Given the description of an element on the screen output the (x, y) to click on. 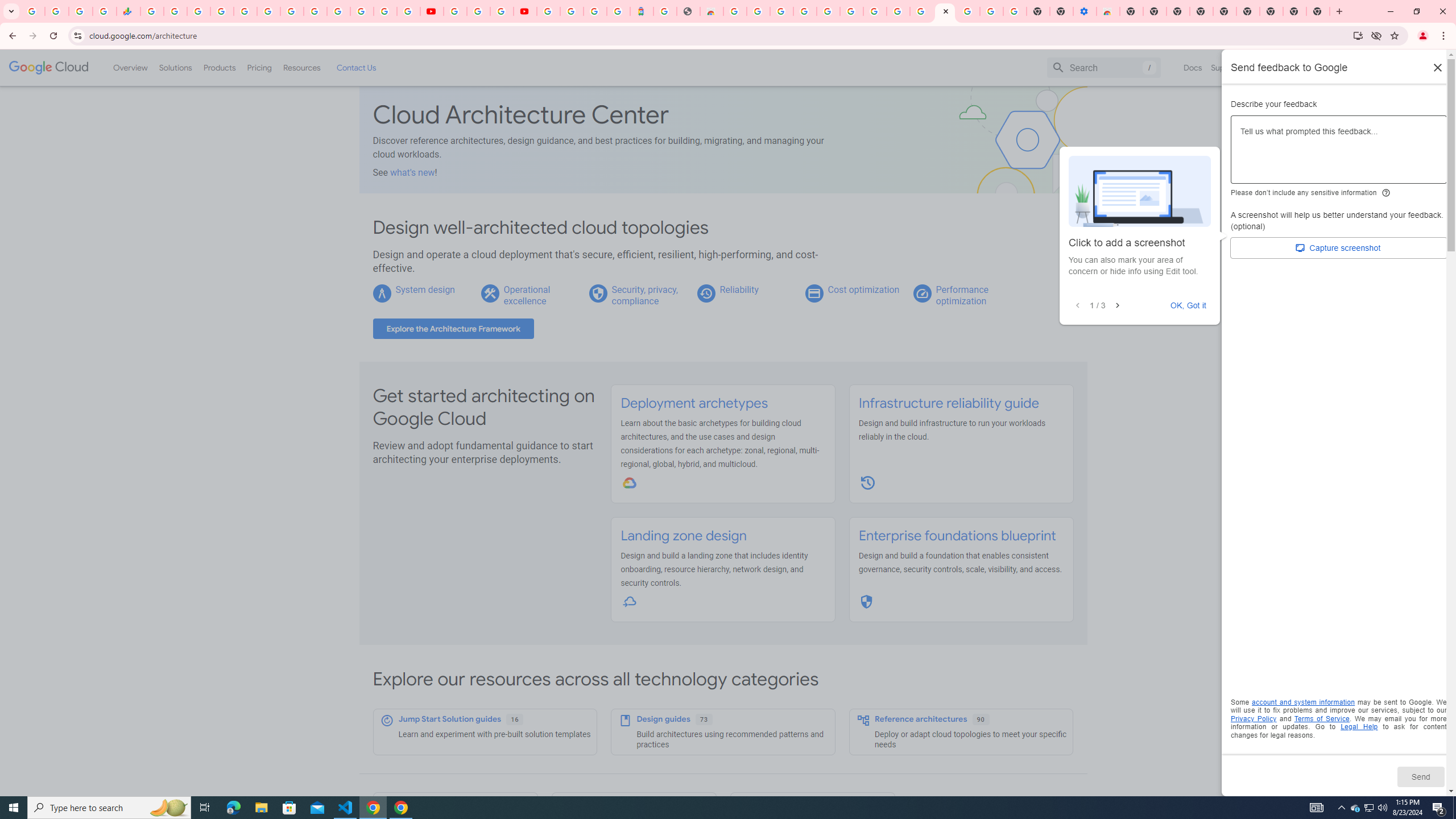
YouTube (314, 11)
